Given the description of an element on the screen output the (x, y) to click on. 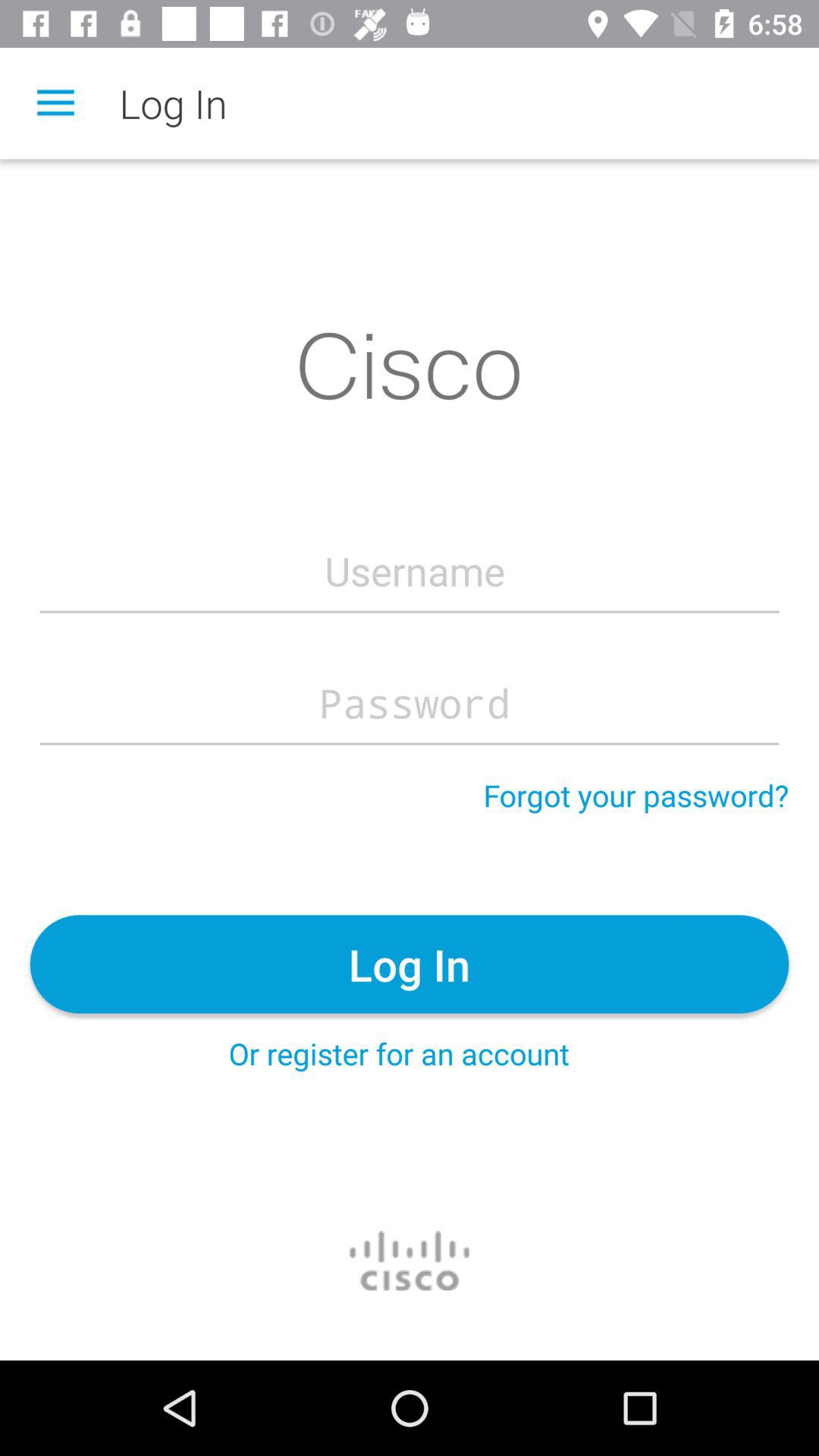
turn off the item below the  cisco  item (414, 570)
